Given the description of an element on the screen output the (x, y) to click on. 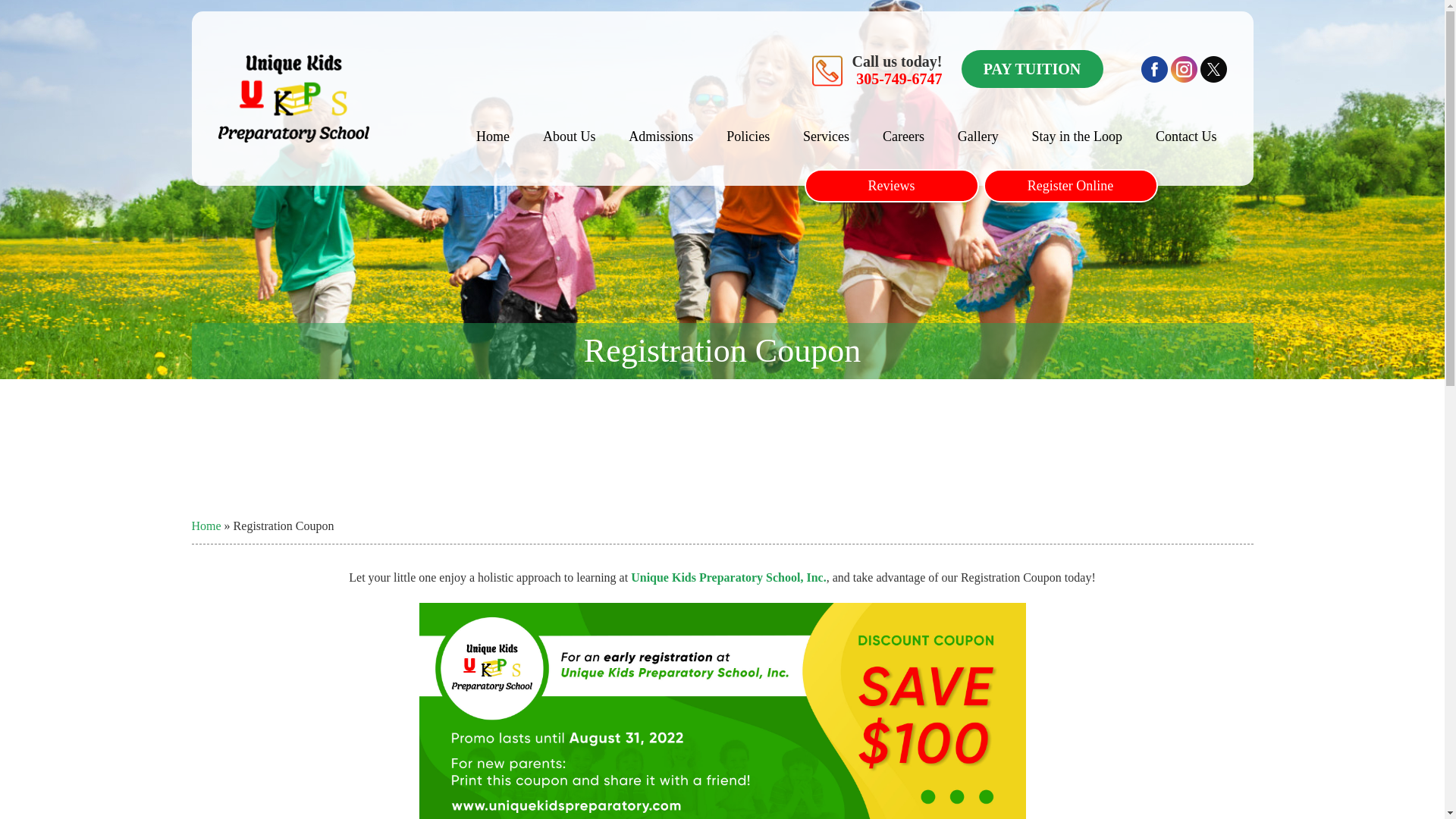
About Us (568, 136)
Home (205, 525)
PAY TUITION (1031, 68)
Gallery (978, 136)
Services (826, 136)
Policies (747, 136)
Contact Us (1186, 136)
Admissions (660, 136)
305-749-6747 (899, 78)
Register Online (1069, 185)
